Given the description of an element on the screen output the (x, y) to click on. 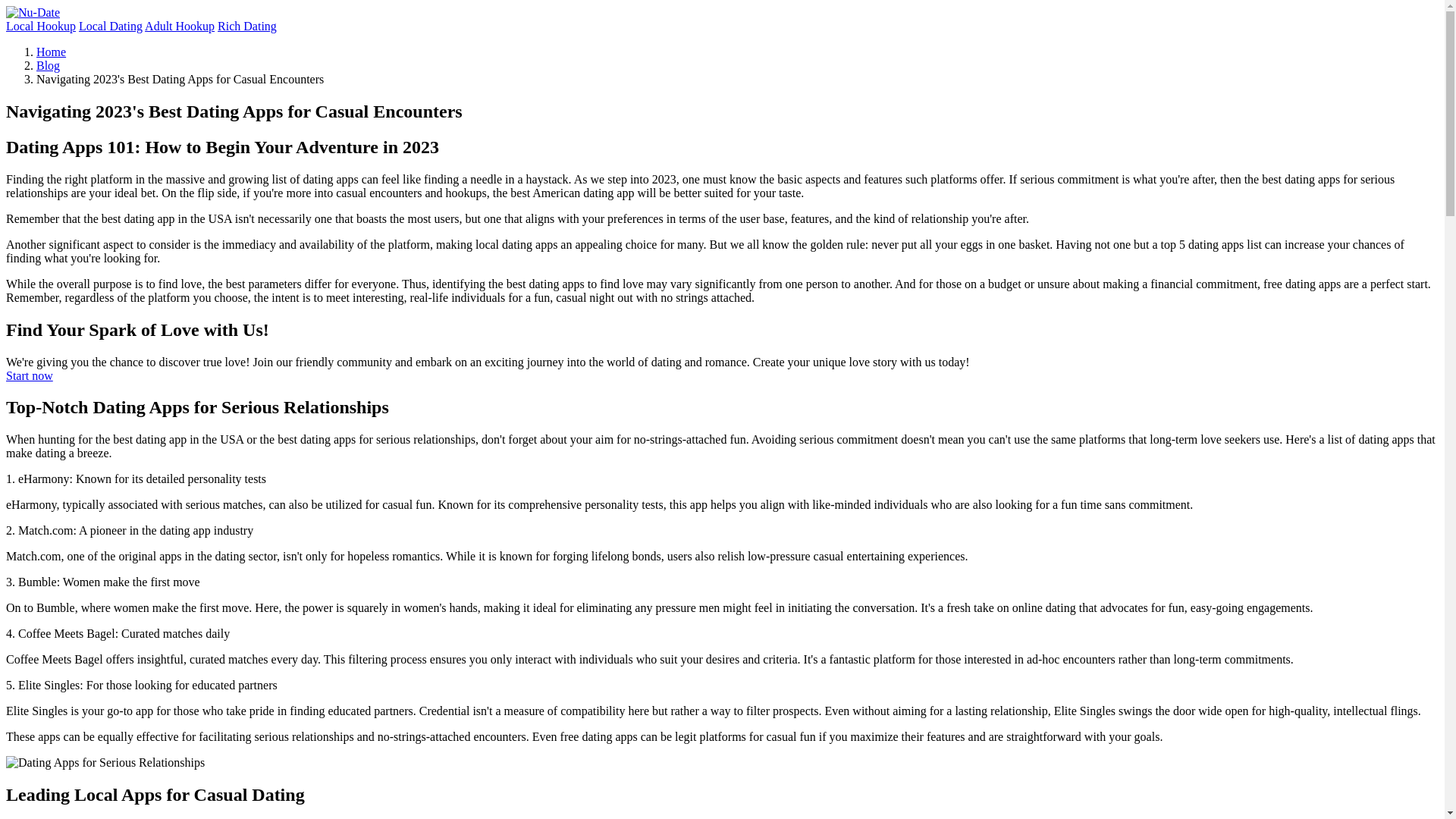
Adult Hookup (179, 25)
Local Dating (110, 25)
Home (50, 51)
Rich Dating (246, 25)
Blog (47, 65)
Local Hookup (40, 25)
Start now (28, 375)
